Given the description of an element on the screen output the (x, y) to click on. 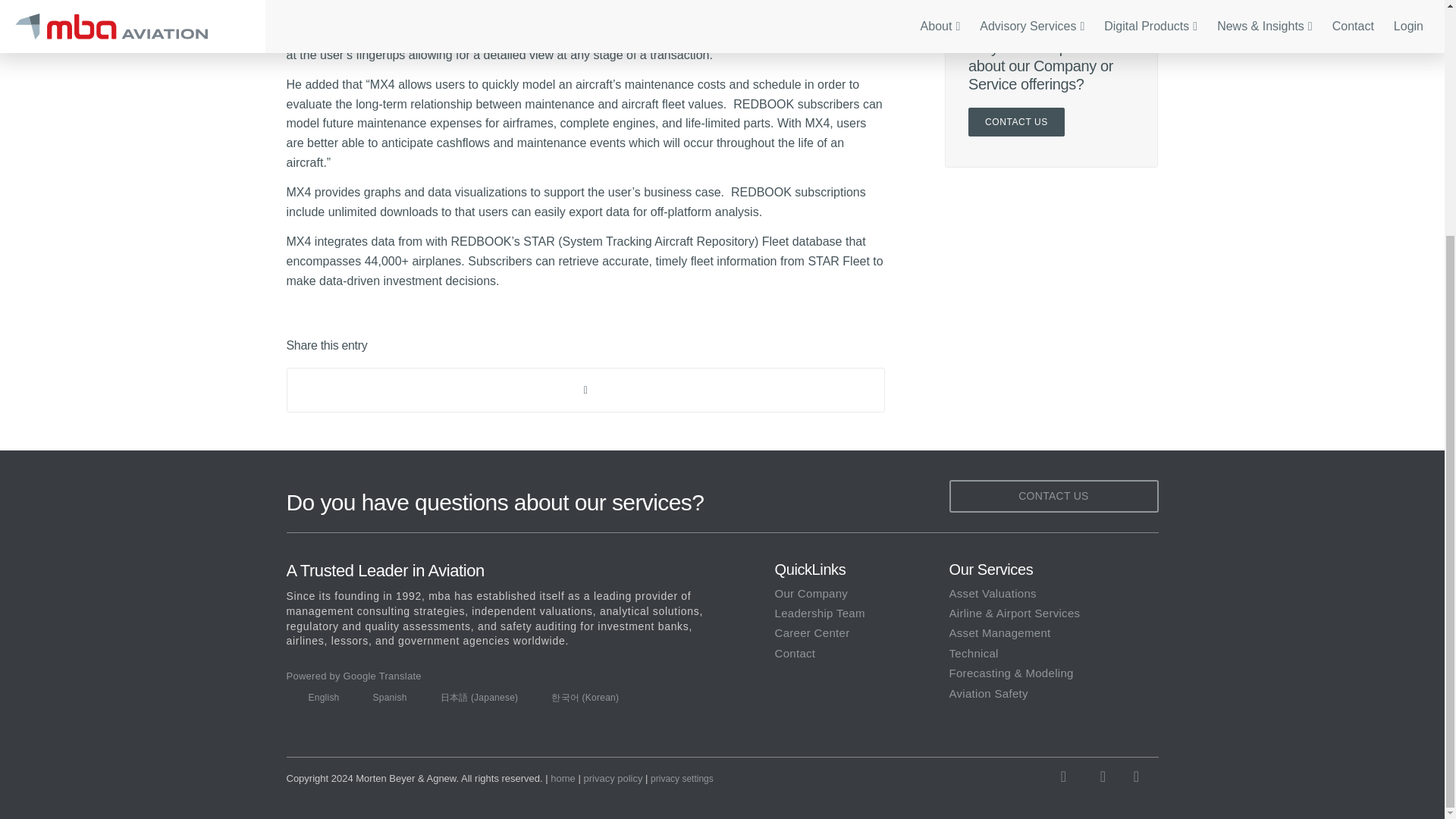
Korean (579, 697)
Spanish (384, 697)
CONTACT US (1016, 121)
Vimeo (1103, 775)
English (318, 697)
LinkedIn (1136, 775)
X (1069, 775)
Japanese (474, 697)
English (318, 697)
Spanish (384, 697)
